Given the description of an element on the screen output the (x, y) to click on. 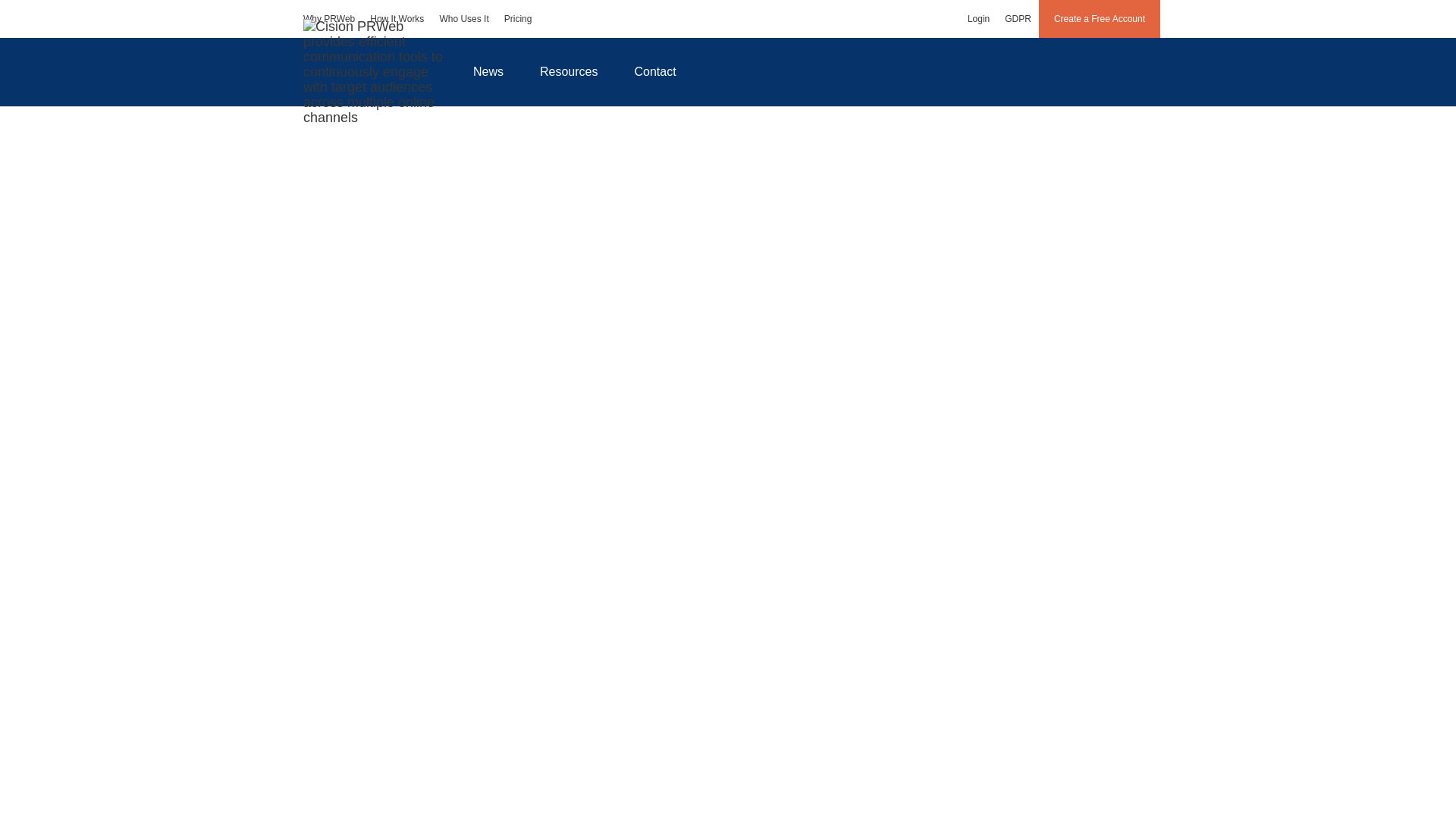
Who Uses It (463, 18)
Resources (568, 71)
Pricing (518, 18)
Create a Free Account (1099, 18)
News (487, 71)
How It Works (396, 18)
Login (978, 18)
Why PRWeb (328, 18)
Contact (654, 71)
GDPR (1018, 18)
